Given the description of an element on the screen output the (x, y) to click on. 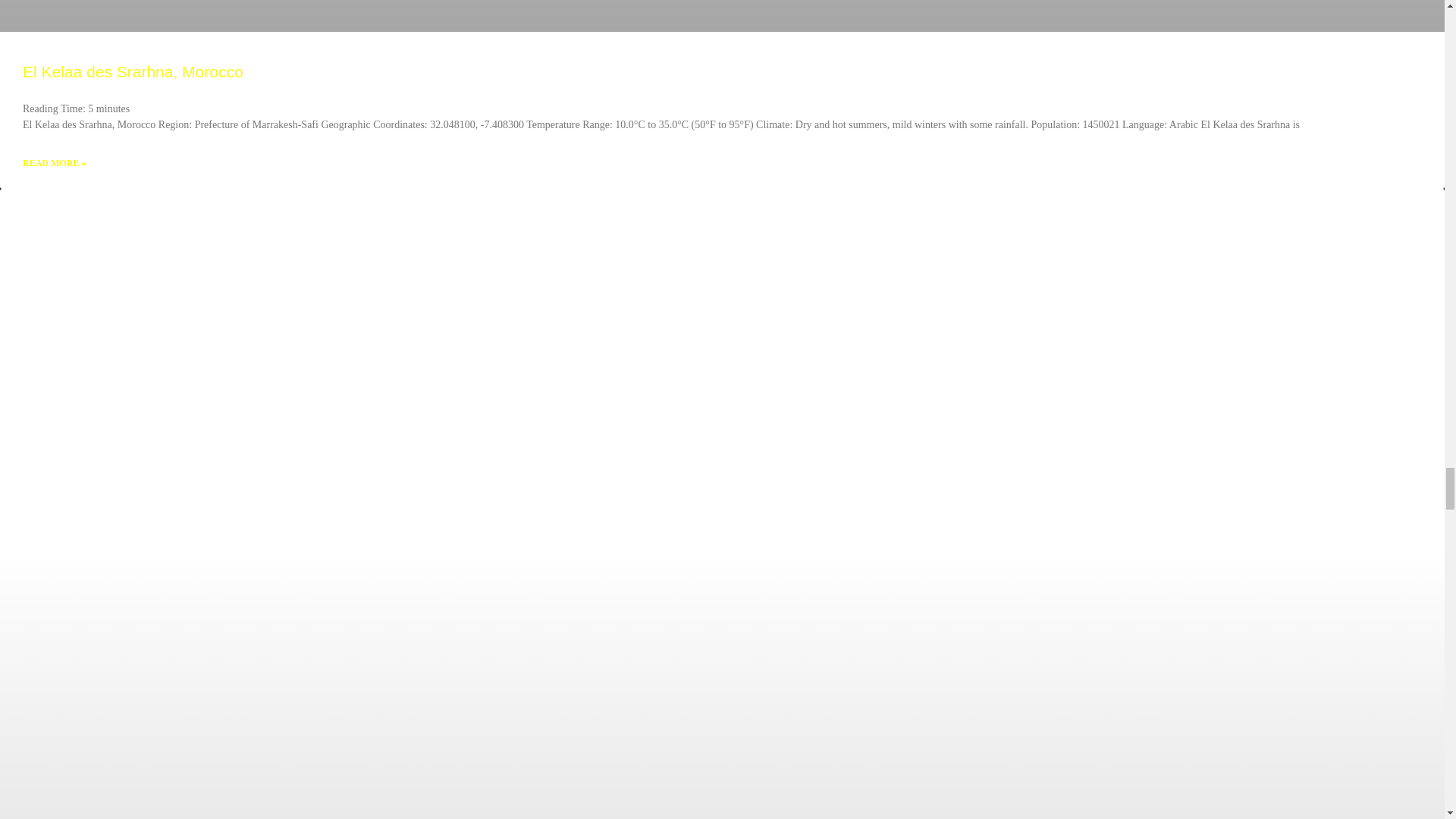
El Kelaa des Srarhna, Morocco (133, 71)
